Given the description of an element on the screen output the (x, y) to click on. 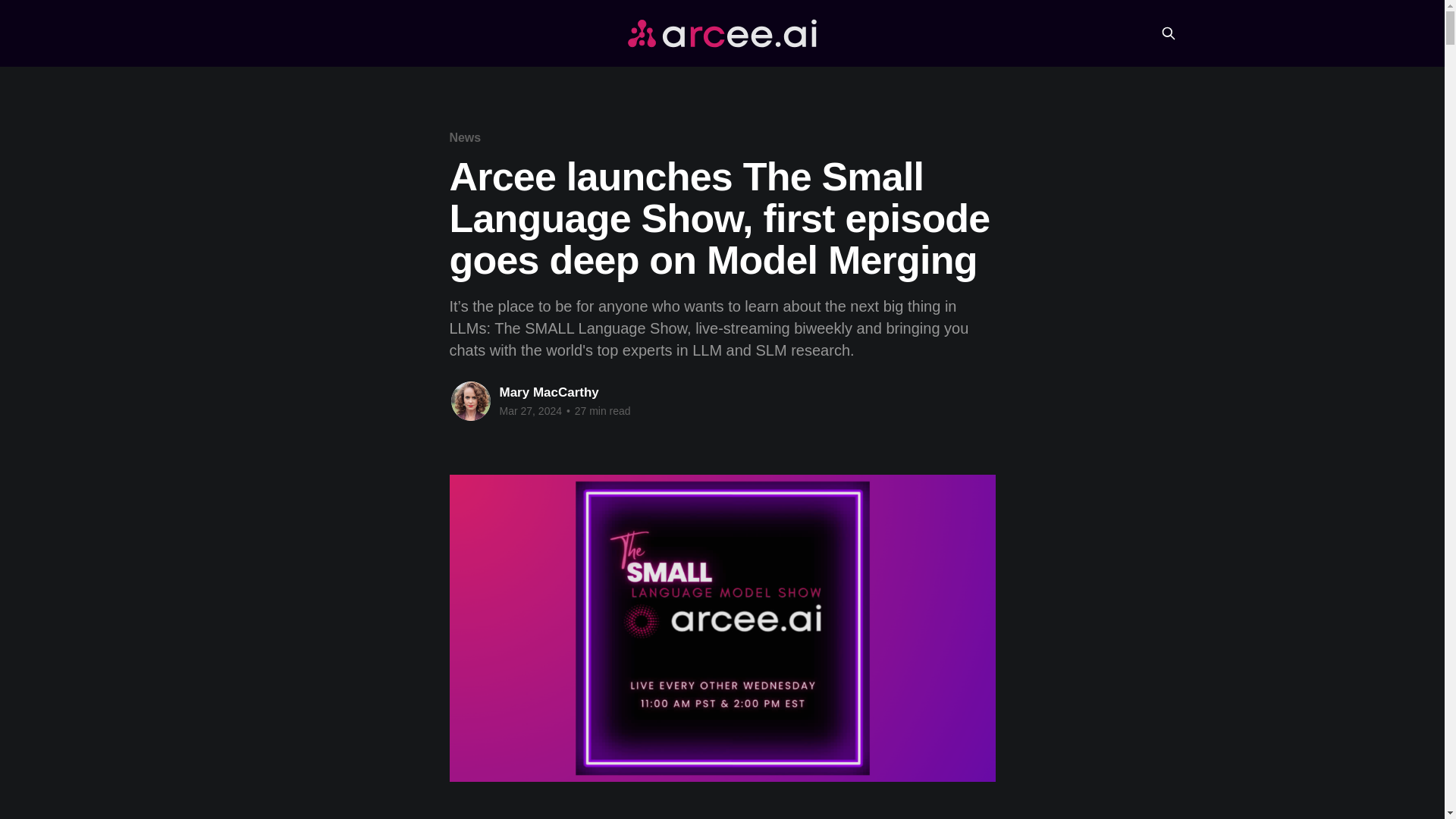
News (464, 137)
Mary MacCarthy (548, 391)
